Given the description of an element on the screen output the (x, y) to click on. 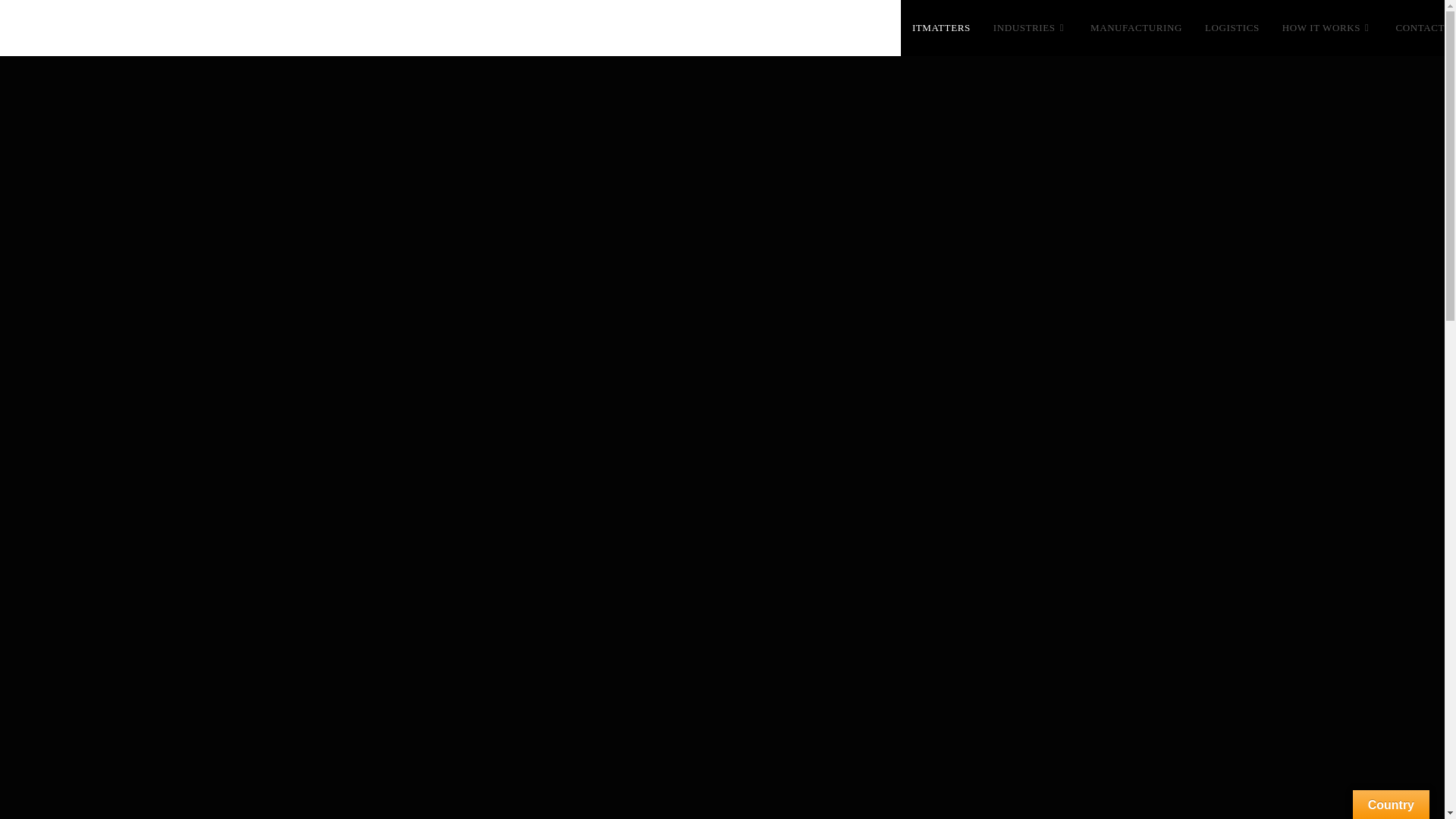
LOGISTICS (1232, 28)
HOW IT WORKS (1327, 28)
MANUFACTURING (1135, 28)
INDUSTRIES (1029, 28)
ITMATTERS (941, 28)
